Given the description of an element on the screen output the (x, y) to click on. 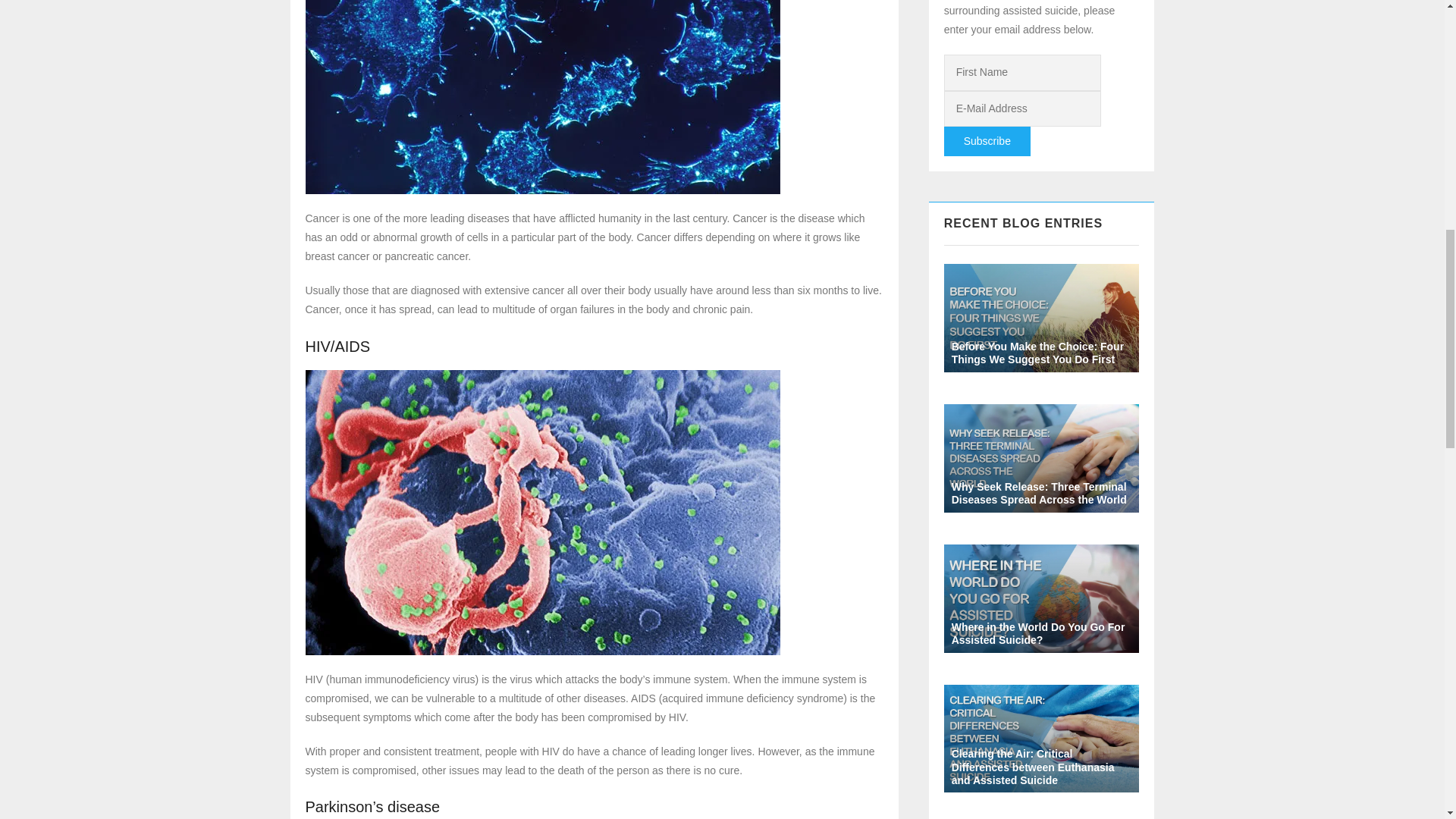
Subscribe (986, 141)
